Given the description of an element on the screen output the (x, y) to click on. 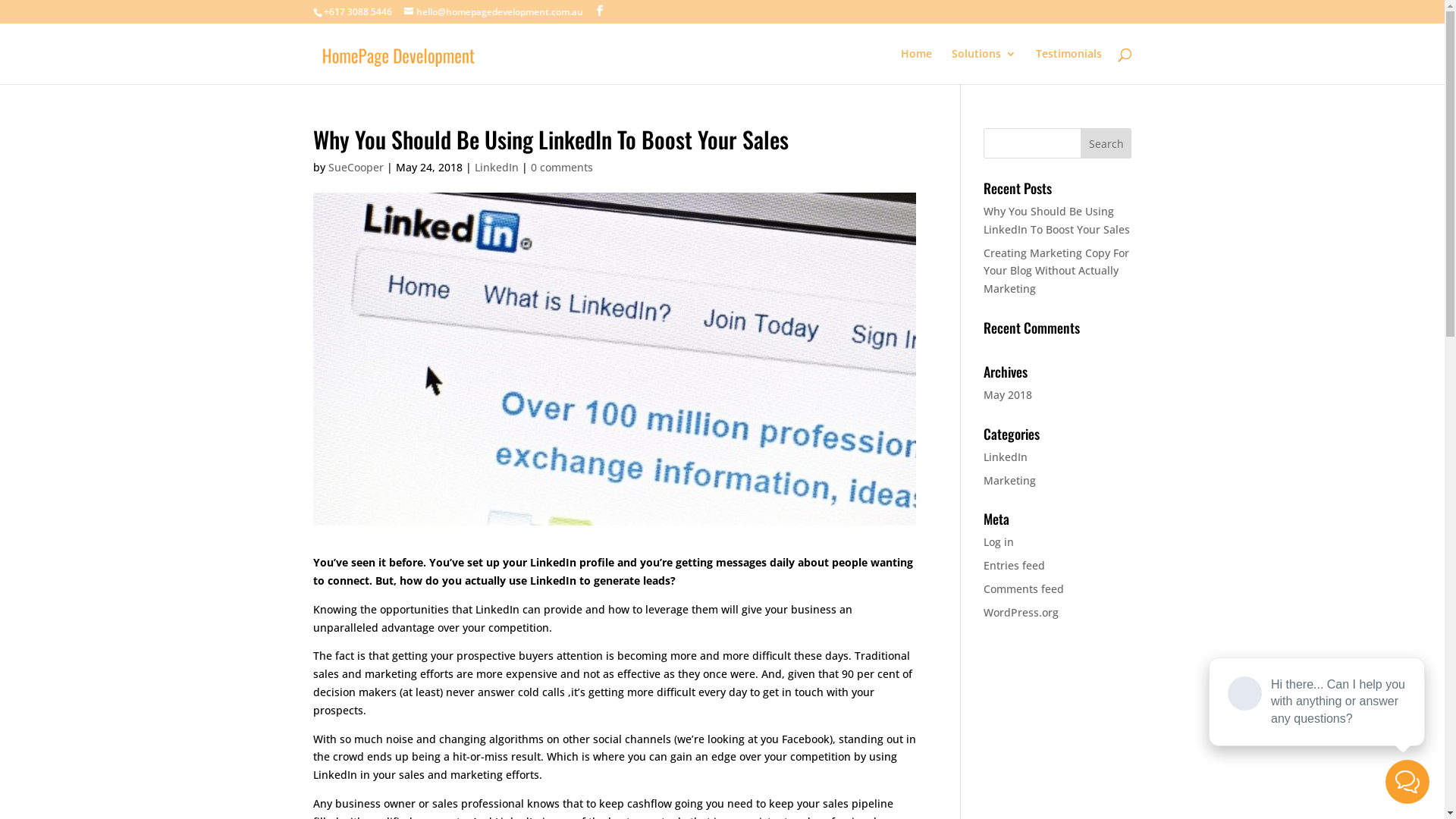
Entries feed Element type: text (1013, 565)
0 comments Element type: text (561, 167)
Search Element type: text (1106, 143)
Testimonials Element type: text (1068, 66)
Marketing Element type: text (1009, 480)
Solutions Element type: text (982, 66)
Comments feed Element type: text (1023, 588)
SueCooper Element type: text (354, 167)
Log in Element type: text (998, 541)
WordPress.org Element type: text (1020, 612)
May 2018 Element type: text (1007, 394)
Why You Should Be Using LinkedIn To Boost Your Sales Element type: text (1056, 219)
Home Element type: text (915, 66)
LinkedIn Element type: text (496, 167)
hello@homepagedevelopment.com.au Element type: text (492, 11)
LinkedIn Element type: text (1005, 456)
